Given the description of an element on the screen output the (x, y) to click on. 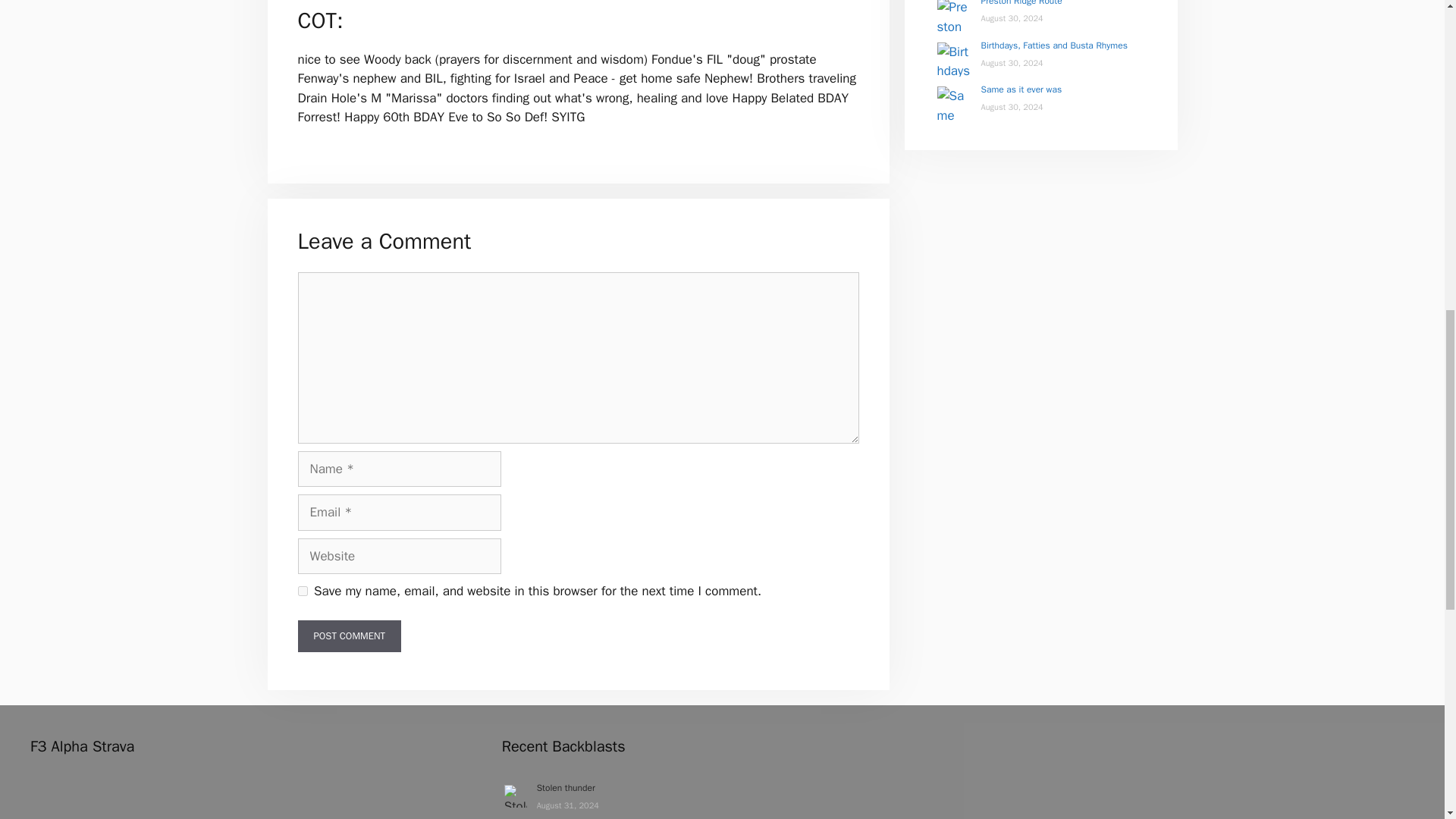
Post Comment (349, 635)
yes (302, 591)
Post Comment (349, 635)
